Given the description of an element on the screen output the (x, y) to click on. 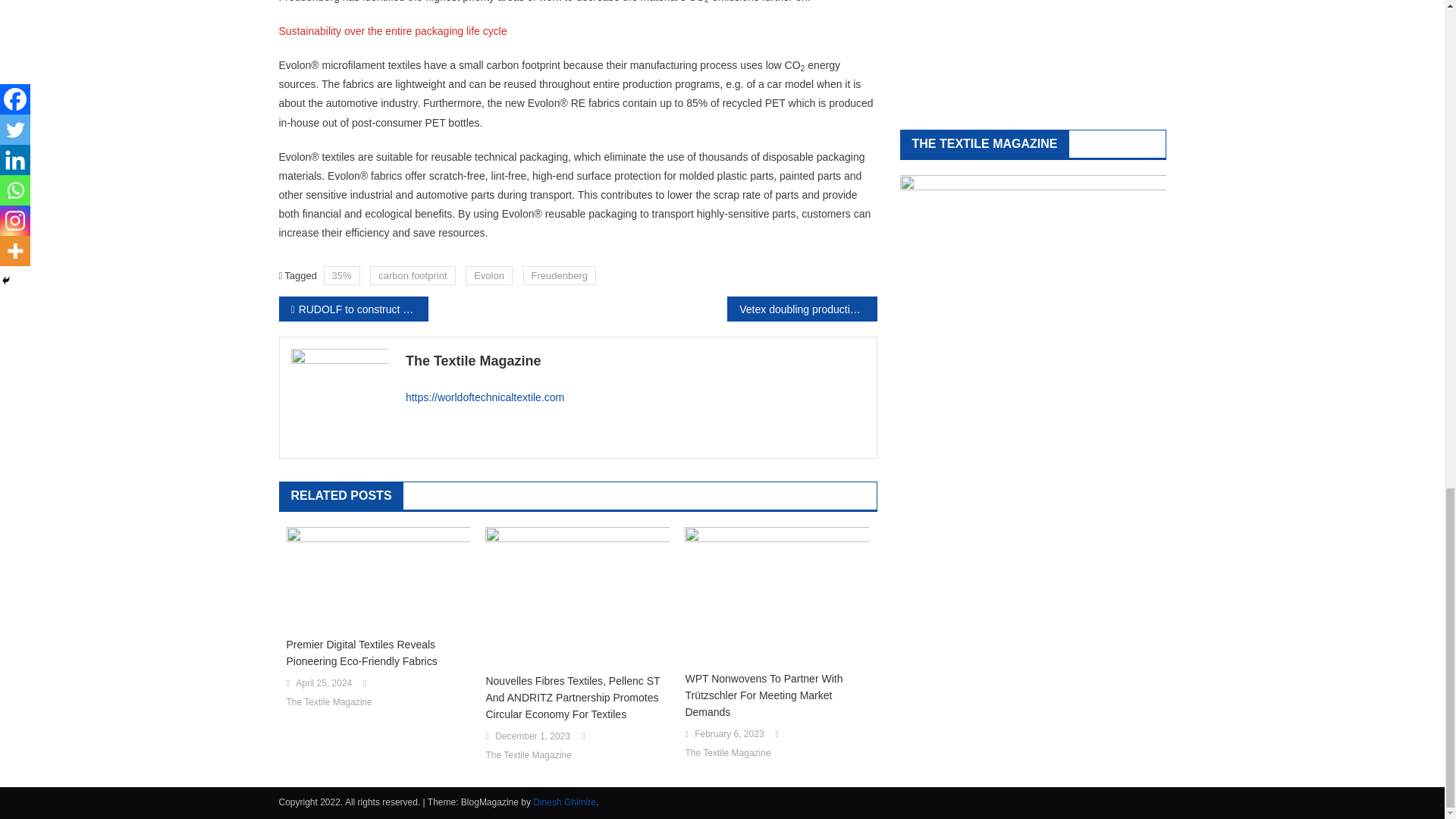
RUDOLF to construct new facility in Bangladesh (353, 308)
Freudenberg (558, 275)
Evolon (488, 275)
DIGITAL EDITION (1032, 53)
carbon footprint (411, 275)
